Given the description of an element on the screen output the (x, y) to click on. 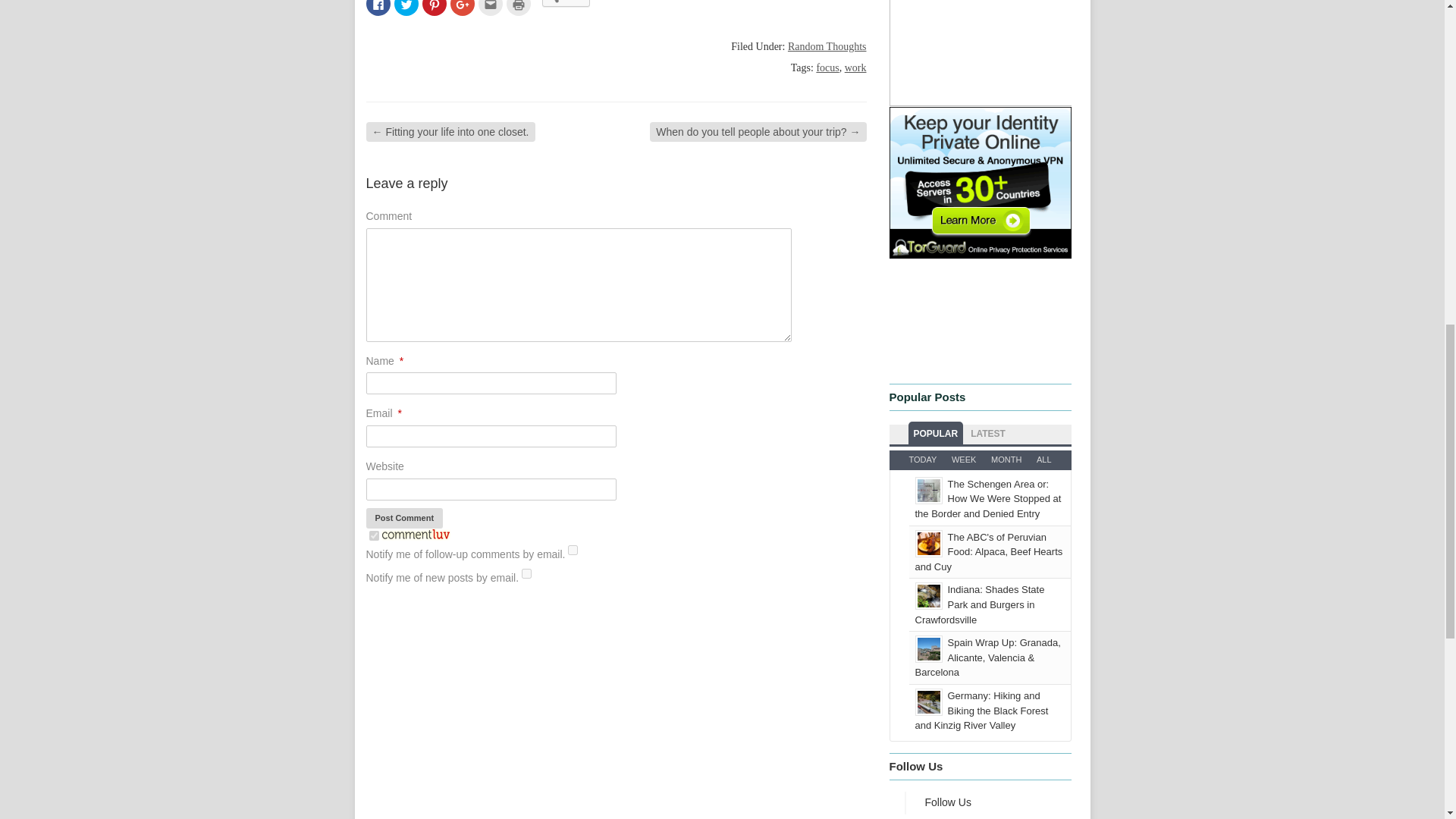
Post Comment (403, 517)
CommentLuv is enabled (414, 536)
Click to email this to a friend (489, 7)
on (373, 535)
Click to share on Facebook (377, 7)
subscribe (572, 550)
Click to share on Pinterest (433, 7)
TODAY (922, 459)
Click to print (518, 7)
POPULAR (935, 433)
Random Thoughts (826, 46)
Click to share on Twitter (406, 7)
subscribe (526, 573)
Post Comment (403, 517)
LATEST (987, 433)
